Given the description of an element on the screen output the (x, y) to click on. 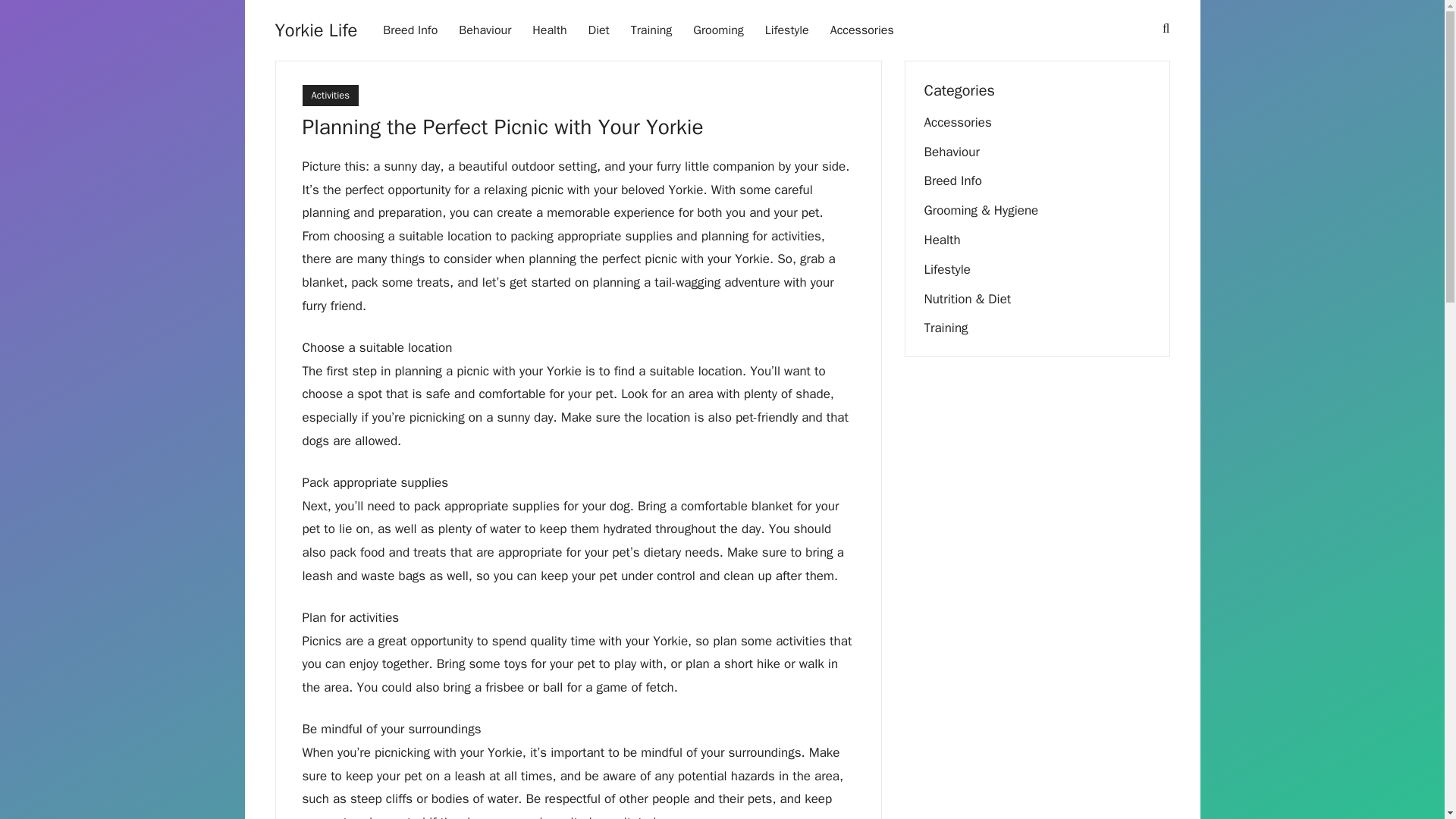
Breed Info (410, 30)
Behaviour (484, 30)
Lifestyle (786, 30)
Accessories (861, 30)
Breed Info (952, 180)
Behaviour (950, 151)
Activities (329, 95)
Health (941, 239)
Accessories (957, 122)
Health (548, 30)
